Given the description of an element on the screen output the (x, y) to click on. 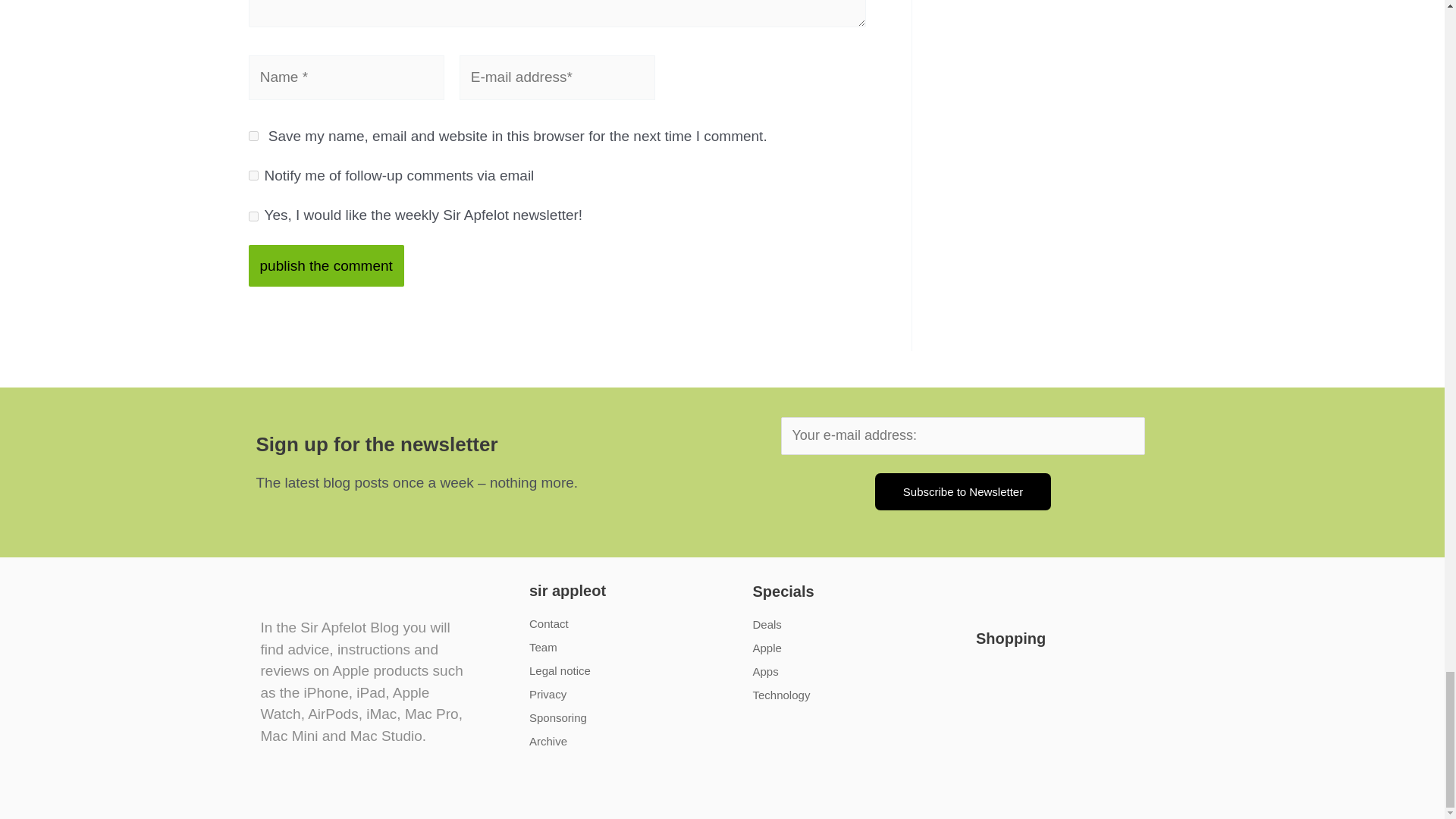
Subscribe to Newsletter (963, 491)
publish the comment (326, 265)
subscribe (253, 175)
yes (253, 135)
1 (253, 216)
